Given the description of an element on the screen output the (x, y) to click on. 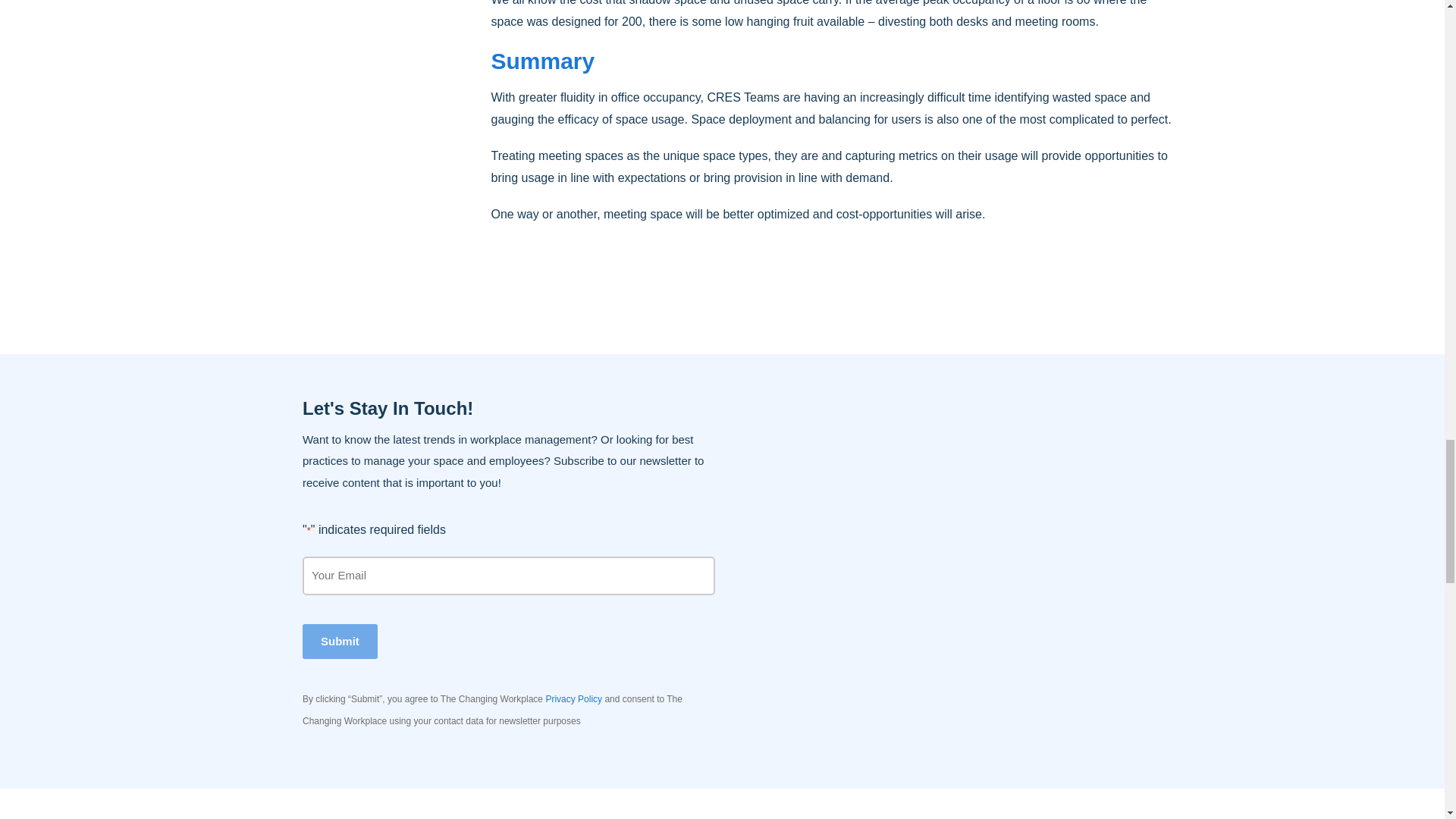
Submit (339, 641)
Privacy Policy (573, 698)
Submit (339, 641)
